Given the description of an element on the screen output the (x, y) to click on. 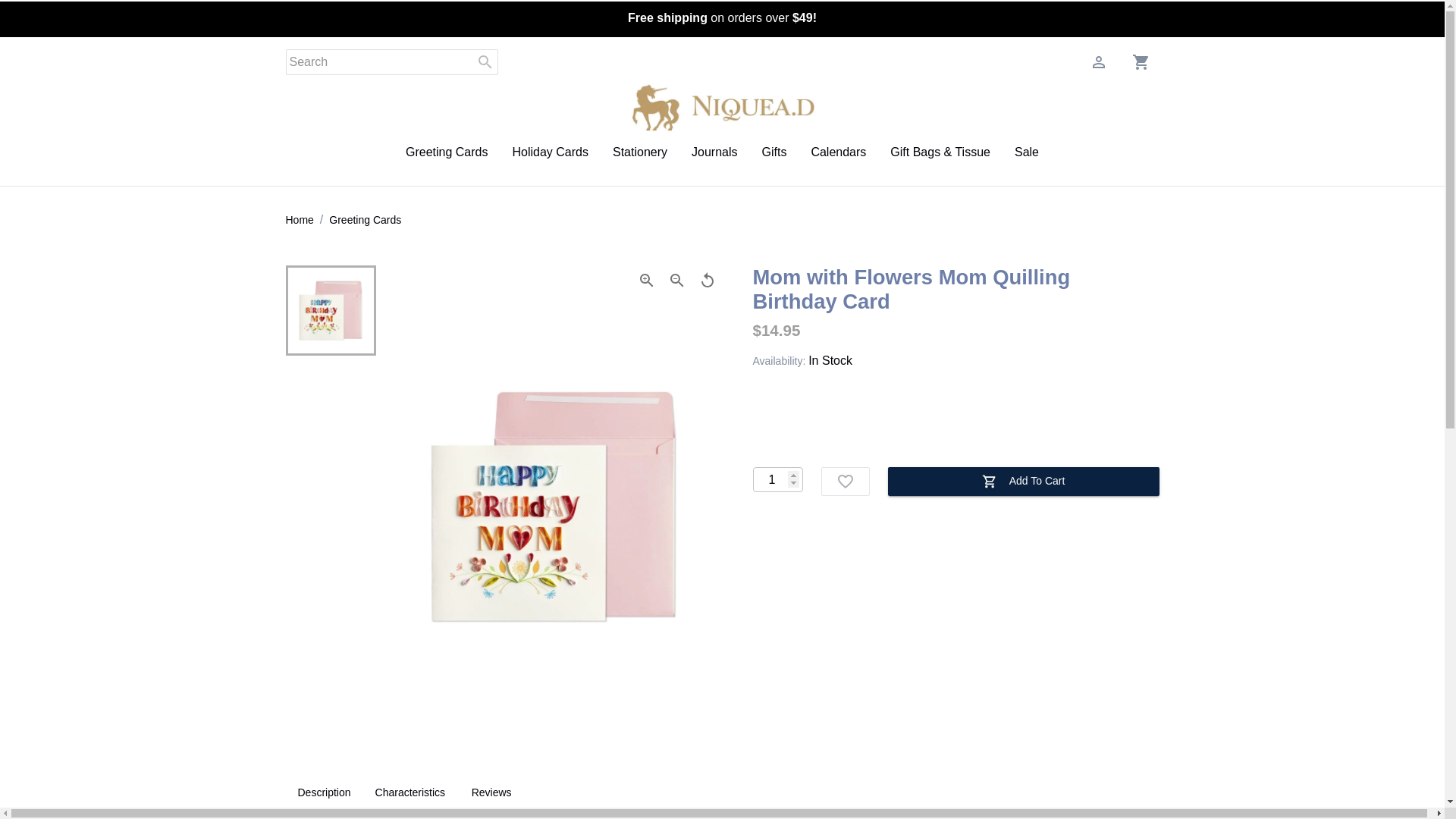
Add To Cart (1022, 481)
Gifts (774, 152)
Greeting Cards (365, 219)
Greeting Cards (446, 152)
Reviews (721, 792)
Journals (491, 792)
Holiday Cards (713, 152)
Sale (550, 152)
Home (1026, 152)
Characteristics (299, 219)
1 (410, 792)
Stationery (777, 479)
Calendars (639, 152)
Description (838, 152)
